Given the description of an element on the screen output the (x, y) to click on. 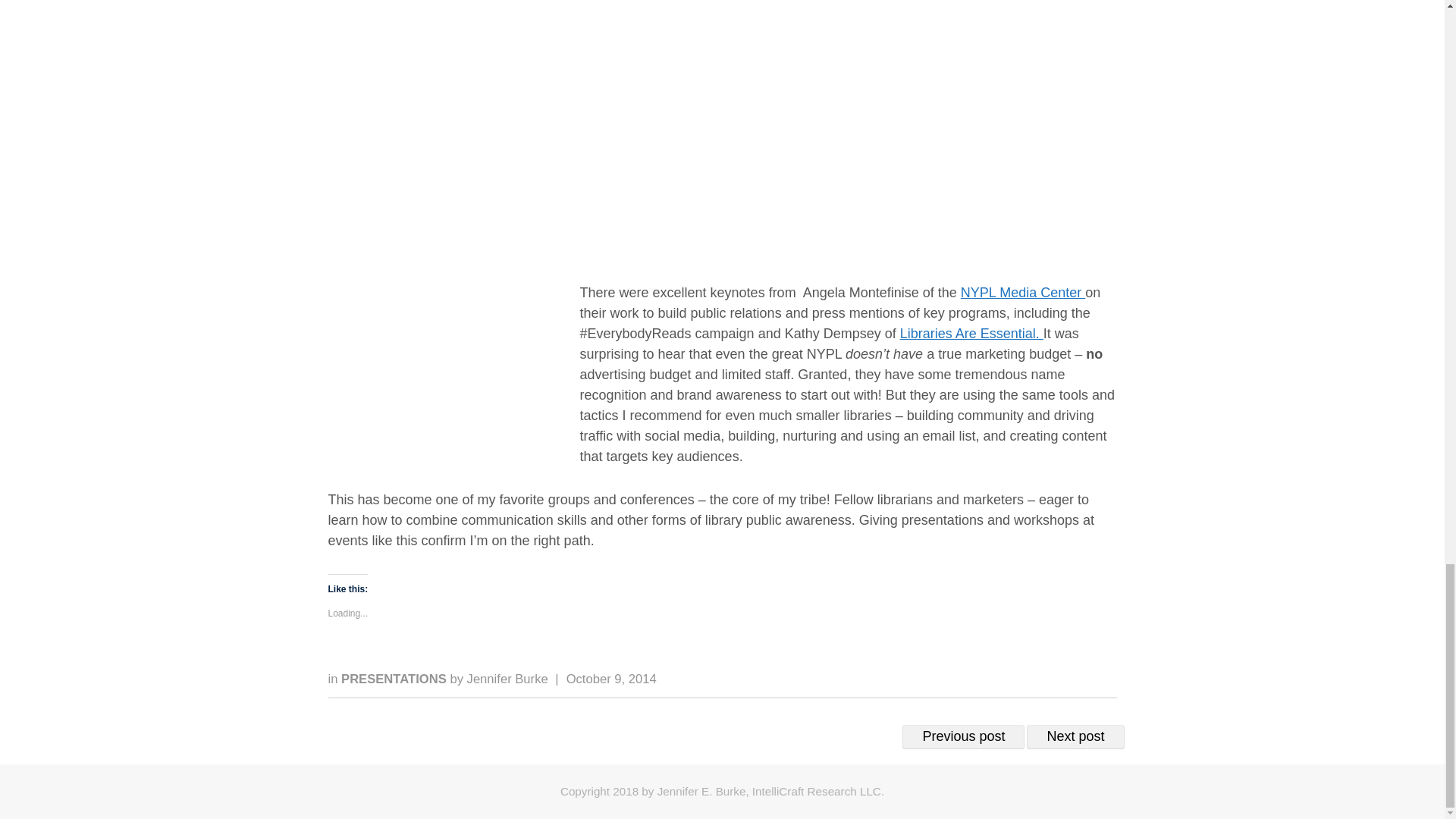
PRESENTATIONS (394, 678)
Previous post (963, 736)
Libraries Are Essential. (971, 333)
Next post (1075, 736)
Jennifer Burke (507, 678)
NYPL Media Center (1022, 292)
